Given the description of an element on the screen output the (x, y) to click on. 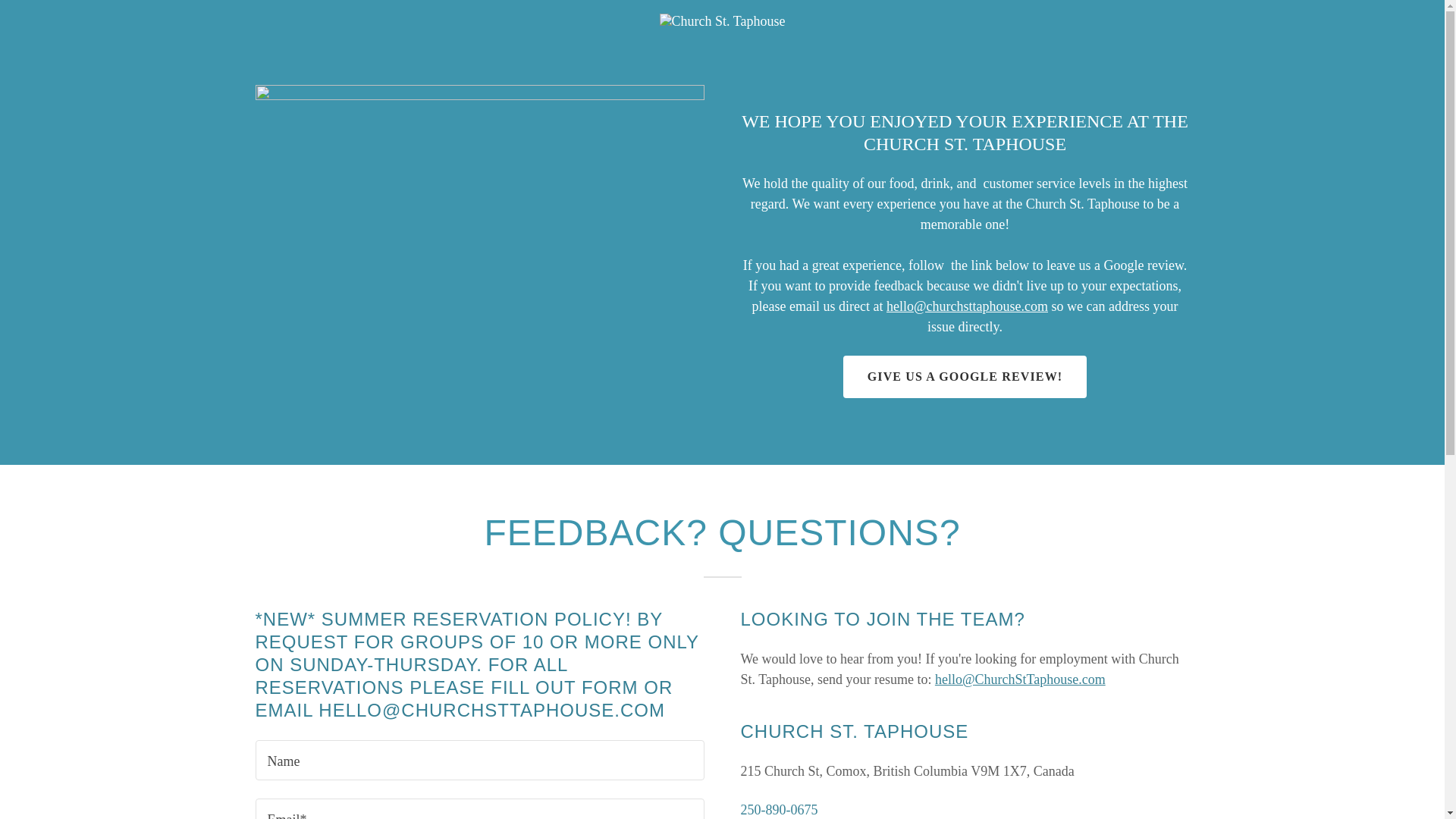
GIVE US A GOOGLE REVIEW! (965, 376)
Church St. Taphouse (722, 20)
250-890-0675 (777, 809)
